Given the description of an element on the screen output the (x, y) to click on. 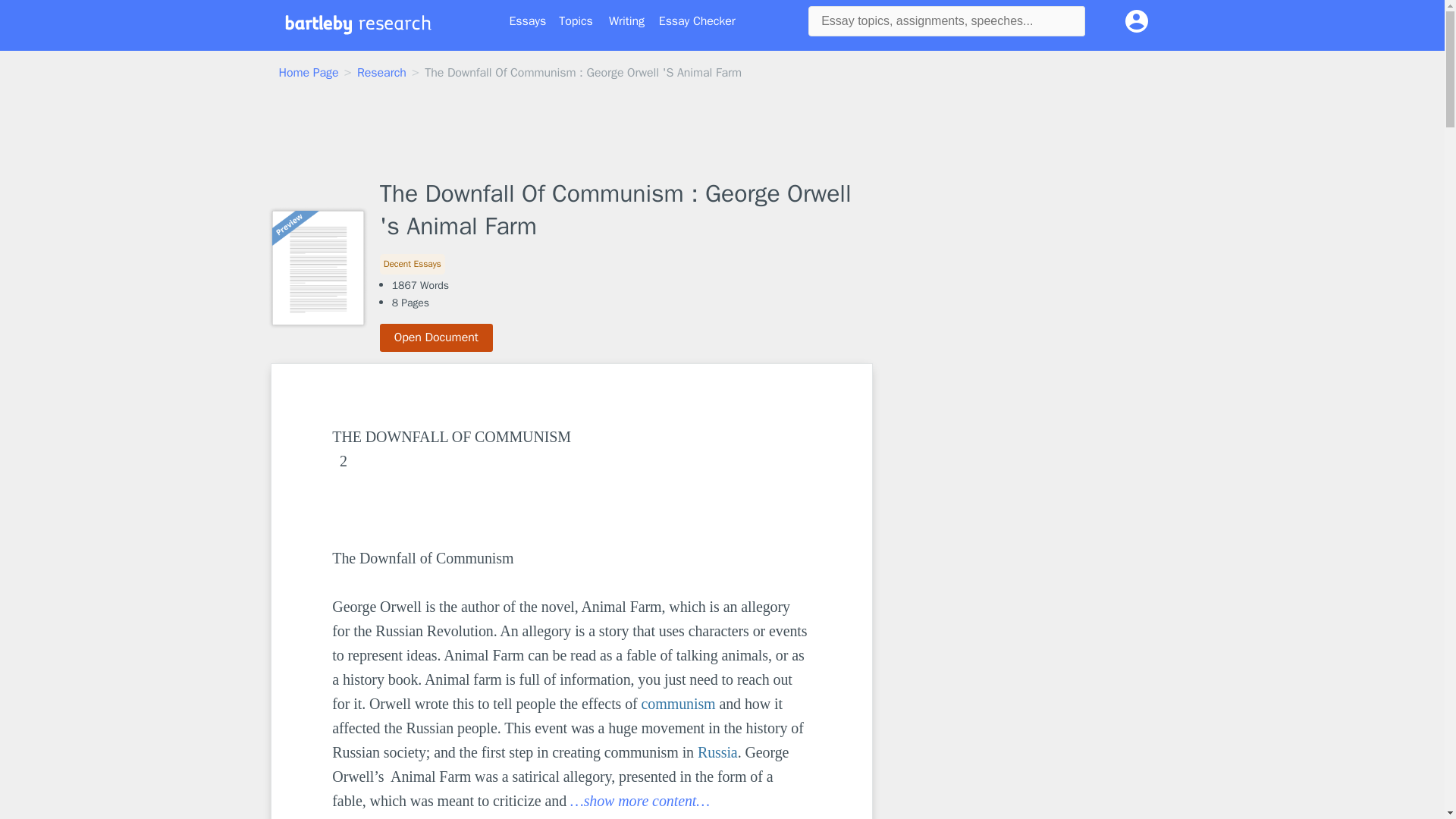
communism (679, 703)
Essay Checker (697, 20)
Home Page (309, 72)
Topics (575, 20)
Research (381, 72)
Open Document (436, 337)
Writing (626, 20)
Essays (528, 20)
Russia (717, 751)
